Given the description of an element on the screen output the (x, y) to click on. 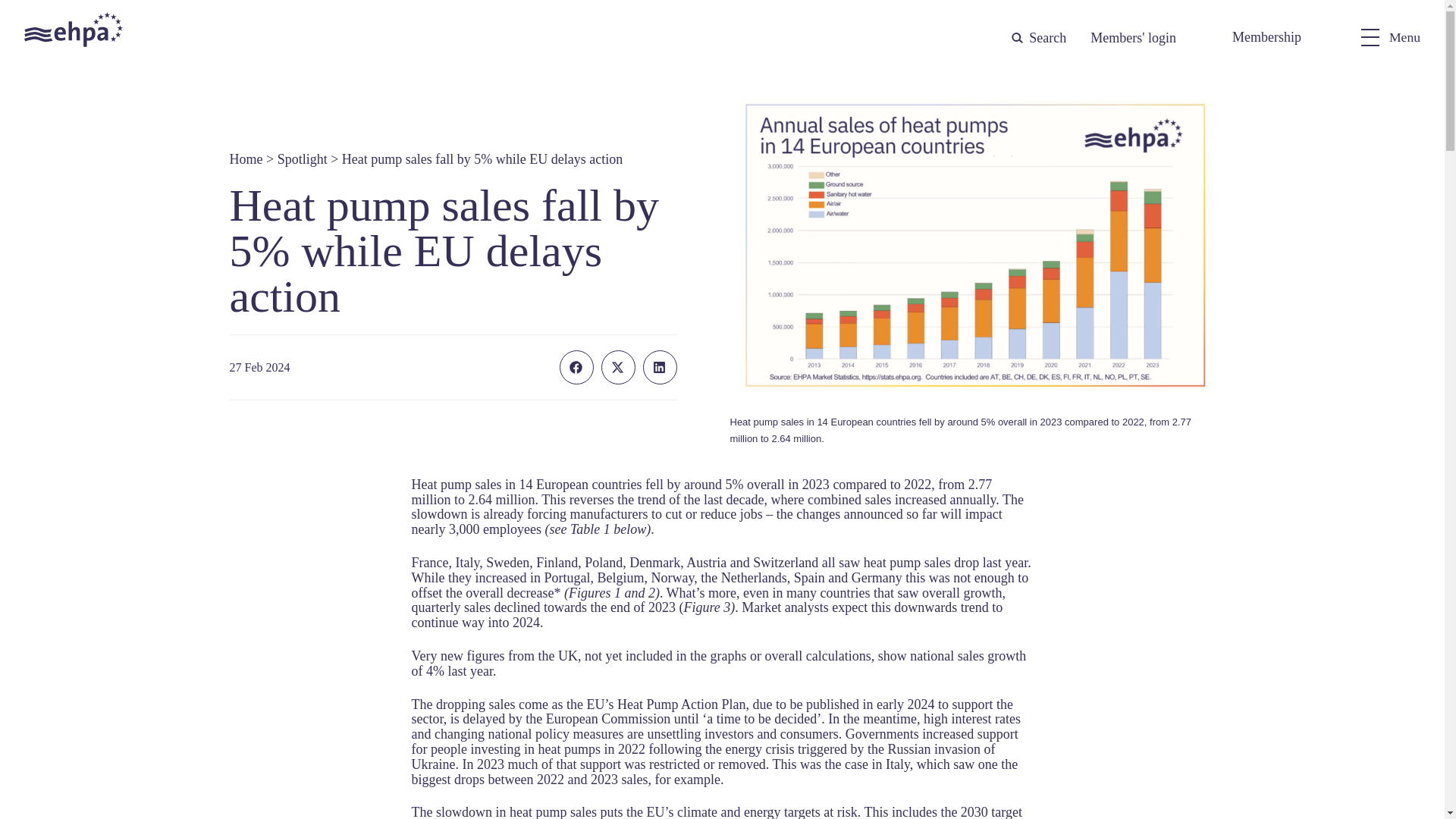
Search (1036, 37)
Membership (1266, 37)
Members' login (1133, 37)
